Given the description of an element on the screen output the (x, y) to click on. 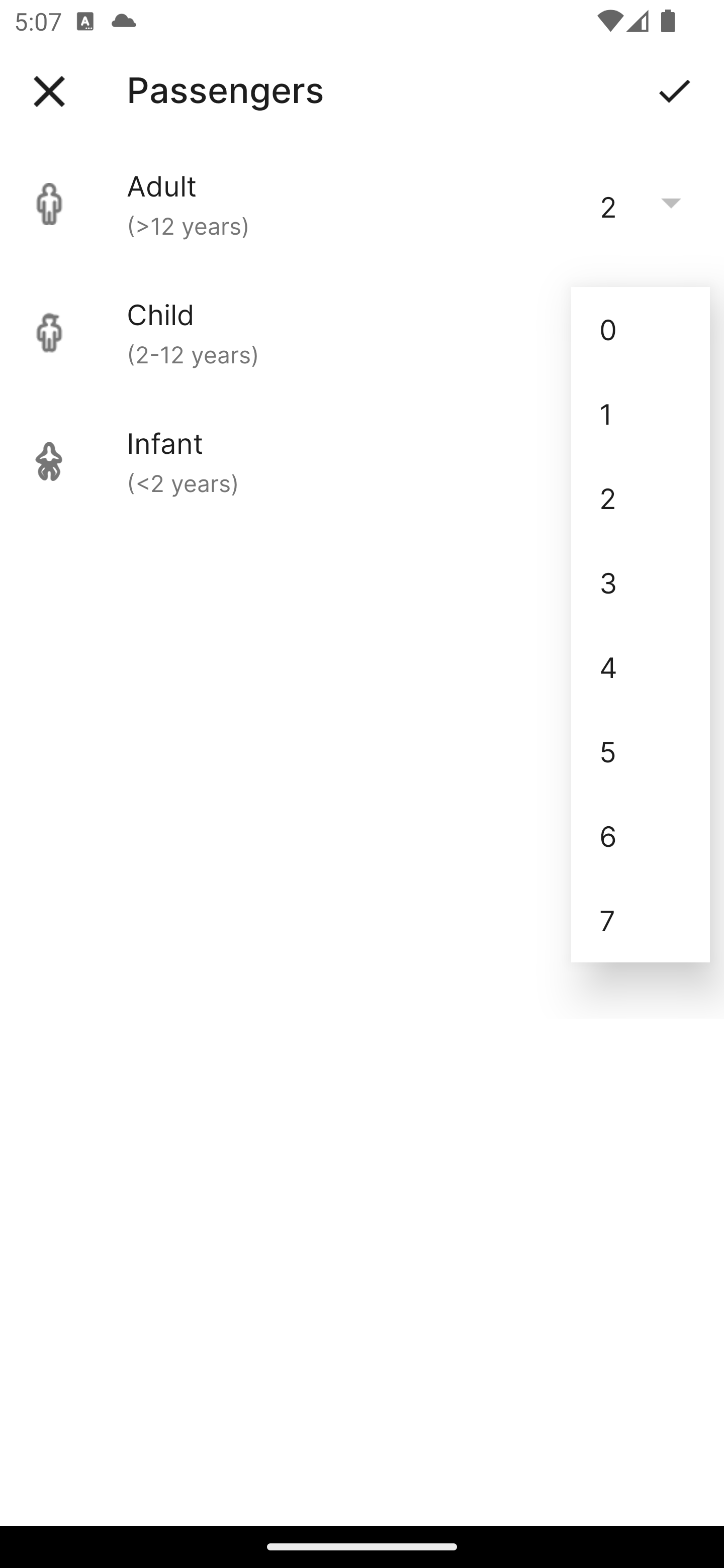
0 (640, 328)
1 (640, 413)
2 (640, 498)
3 (640, 582)
4 (640, 666)
5 (640, 750)
6 (640, 835)
7 (640, 920)
